Given the description of an element on the screen output the (x, y) to click on. 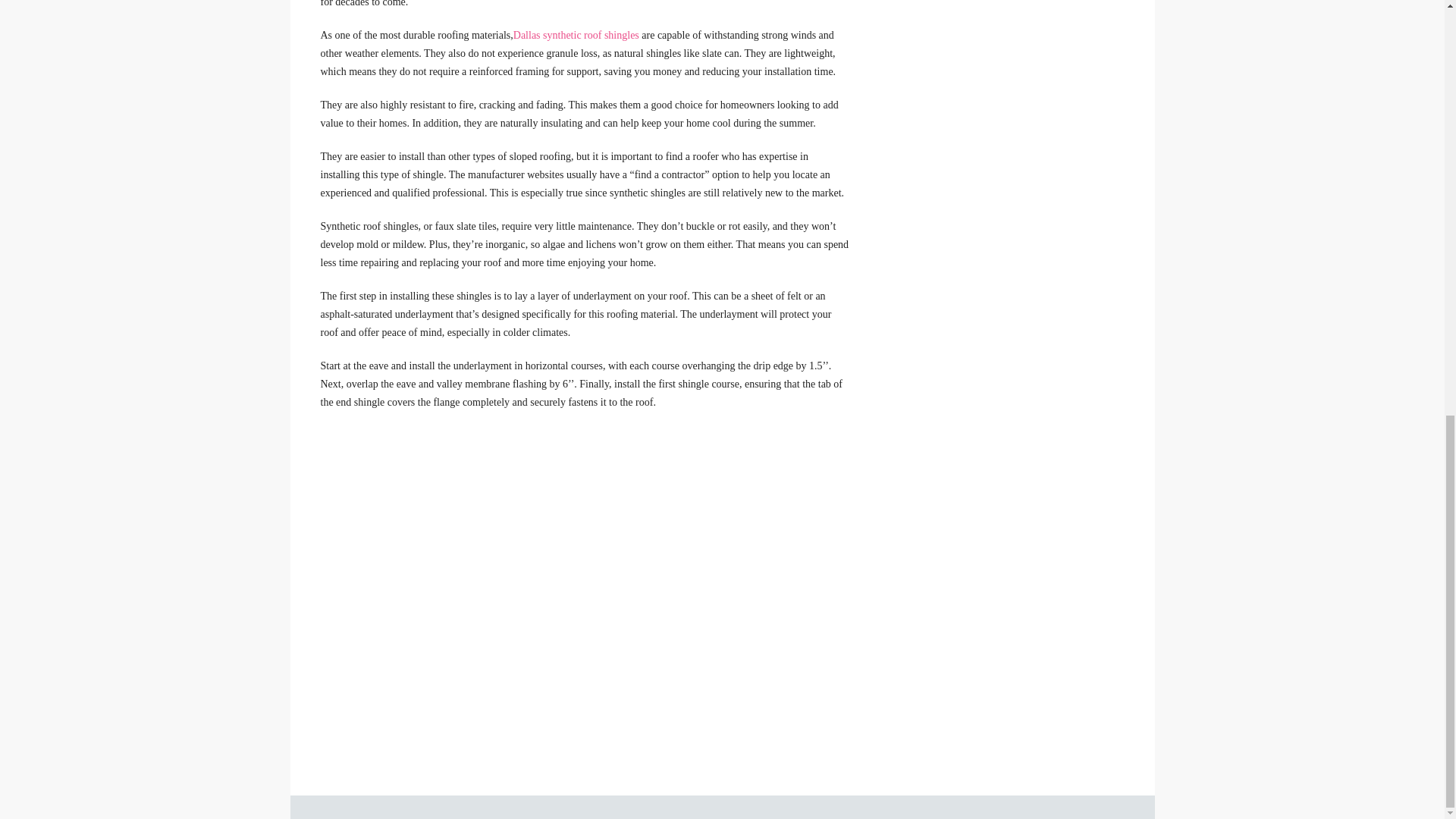
Dallas synthetic roof shingles (576, 34)
YouTube video player (532, 545)
